Given the description of an element on the screen output the (x, y) to click on. 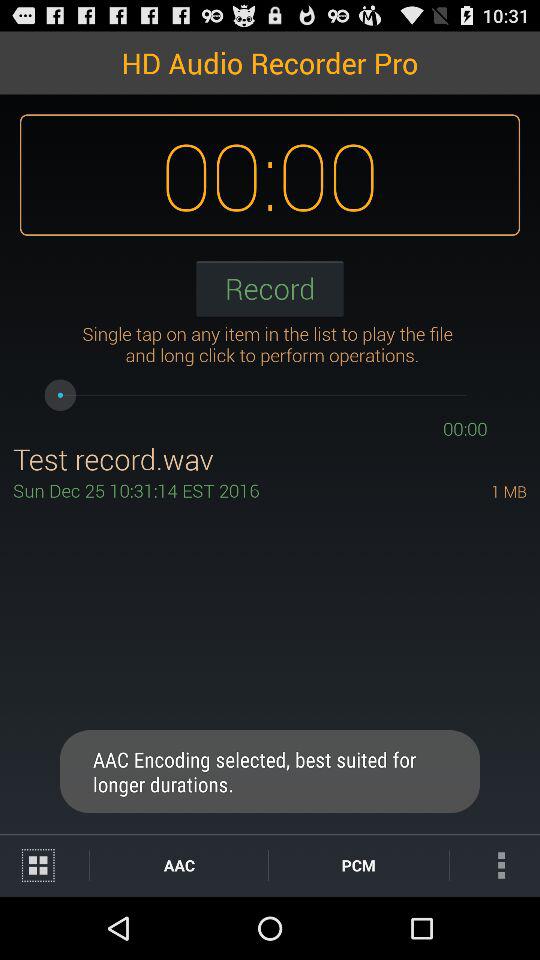
click on aac (179, 865)
click on pcm at the bottom (358, 865)
select the last icon which is right to the pcm (494, 865)
